Given the description of an element on the screen output the (x, y) to click on. 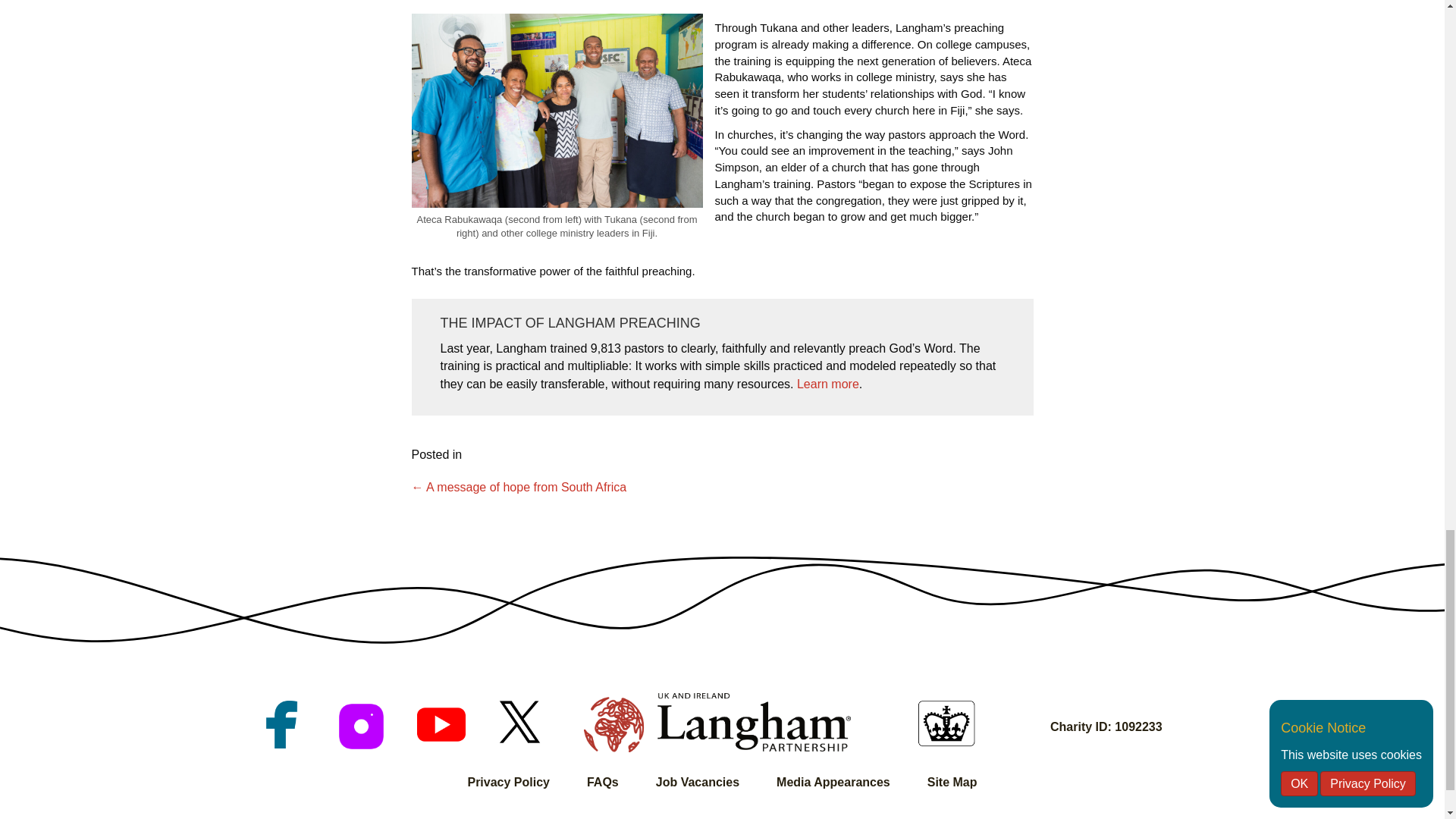
YouTube (440, 724)
Facebook (281, 724)
Instagram (361, 726)
Charity Commission (945, 722)
